Given the description of an element on the screen output the (x, y) to click on. 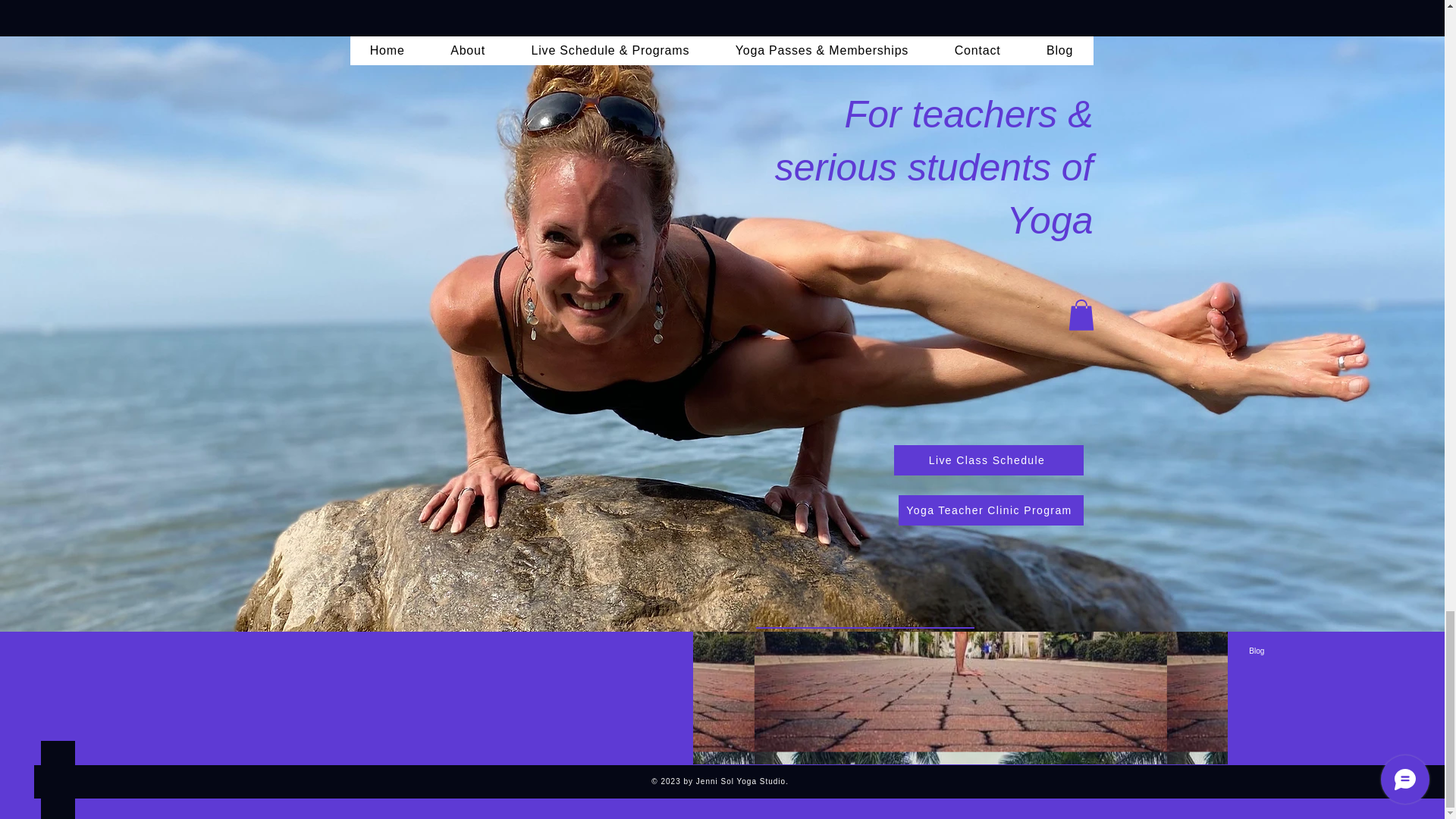
Home (1287, 529)
Yoga Handstand Tutorial Guide (354, 616)
Mailchimp contact form (354, 401)
Blog (1287, 651)
About (1287, 554)
Contact (1287, 627)
